Given the description of an element on the screen output the (x, y) to click on. 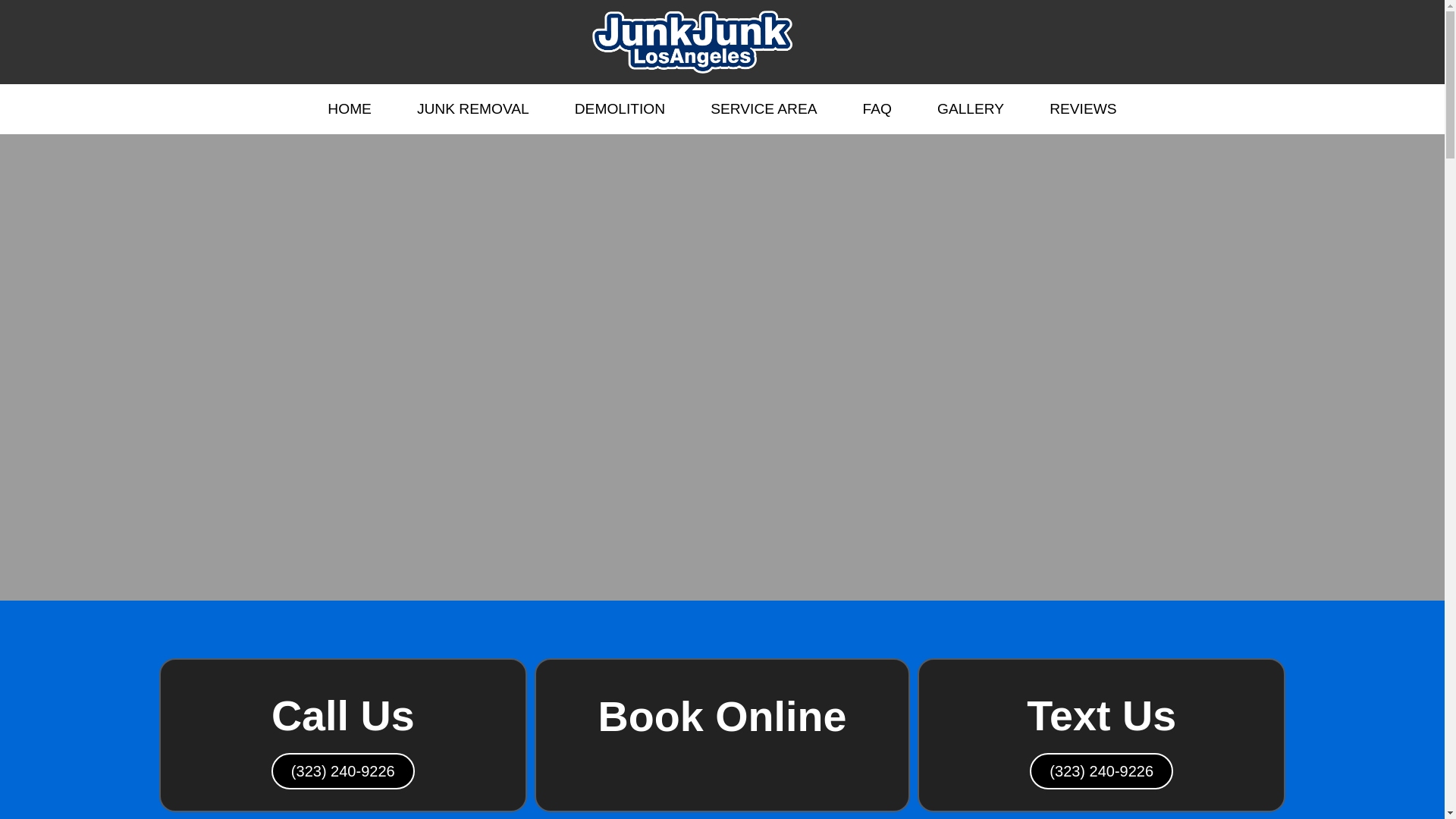
FAQ (877, 108)
GALLERY (970, 108)
HOME (350, 108)
JUNK REMOVAL (472, 108)
DEMOLITION (619, 108)
REVIEWS (1086, 108)
SERVICE AREA (763, 108)
